Given the description of an element on the screen output the (x, y) to click on. 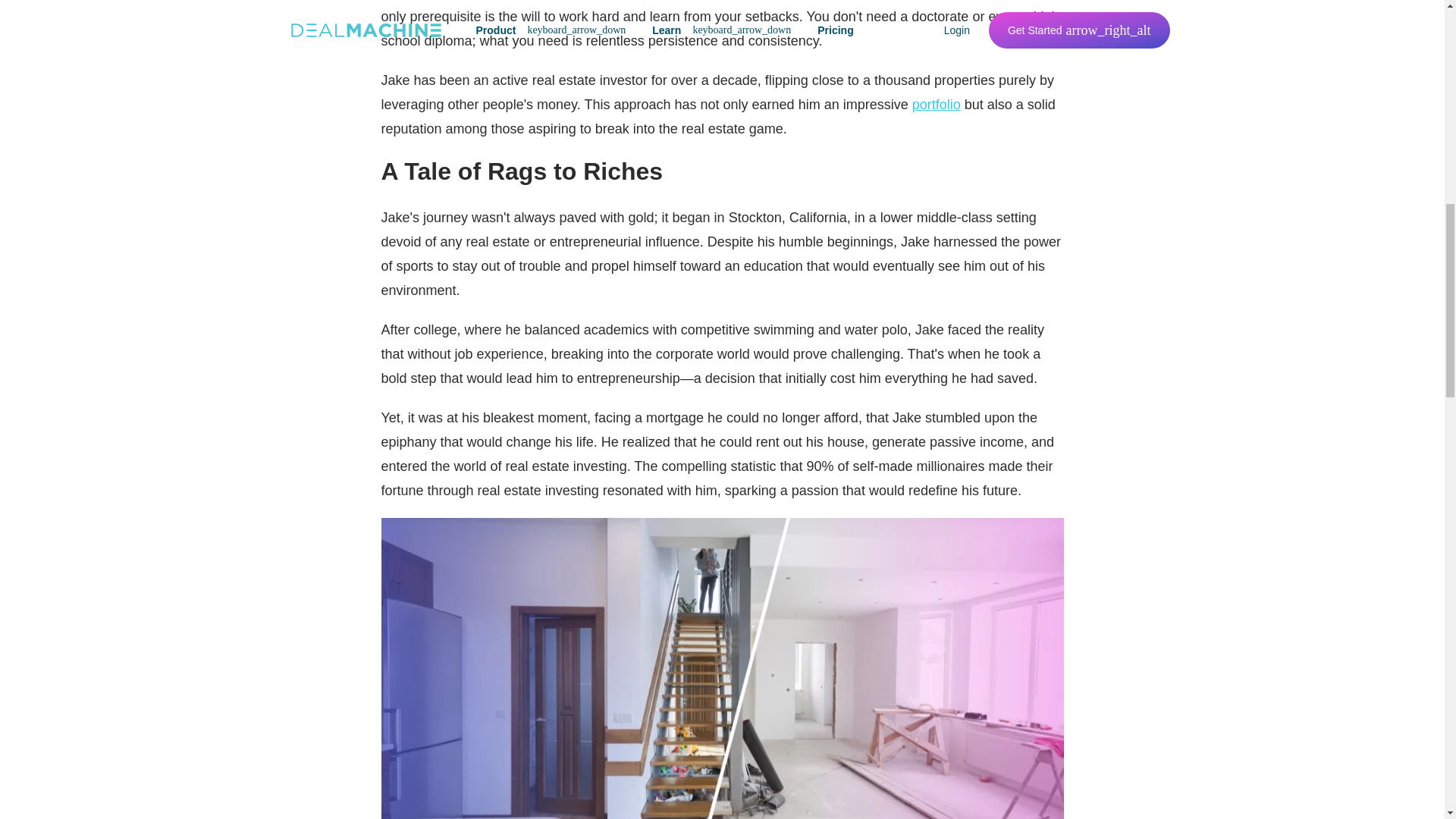
portfolio (936, 104)
